Given the description of an element on the screen output the (x, y) to click on. 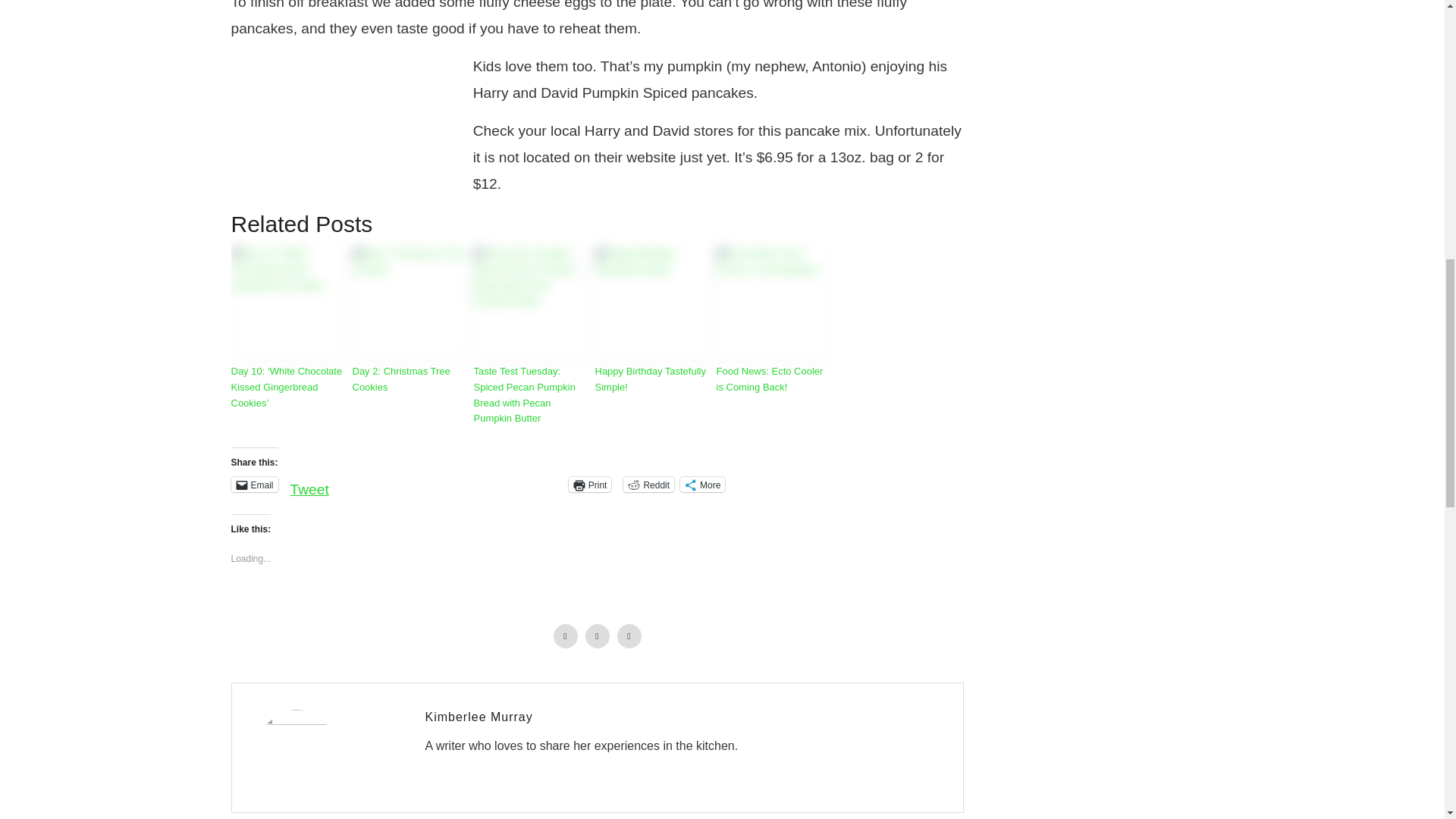
Day 2: Christmas Tree Cookies (408, 379)
Click to print (590, 484)
Click to email a link to a friend (254, 484)
More (702, 484)
Food News: Ecto Cooler is Coming Back! (772, 379)
Tweet (309, 483)
Happy Birthday Tastefully Simple! (650, 379)
Email (254, 484)
Reddit (648, 484)
Click to share on Reddit (648, 484)
Print (590, 484)
